Given the description of an element on the screen output the (x, y) to click on. 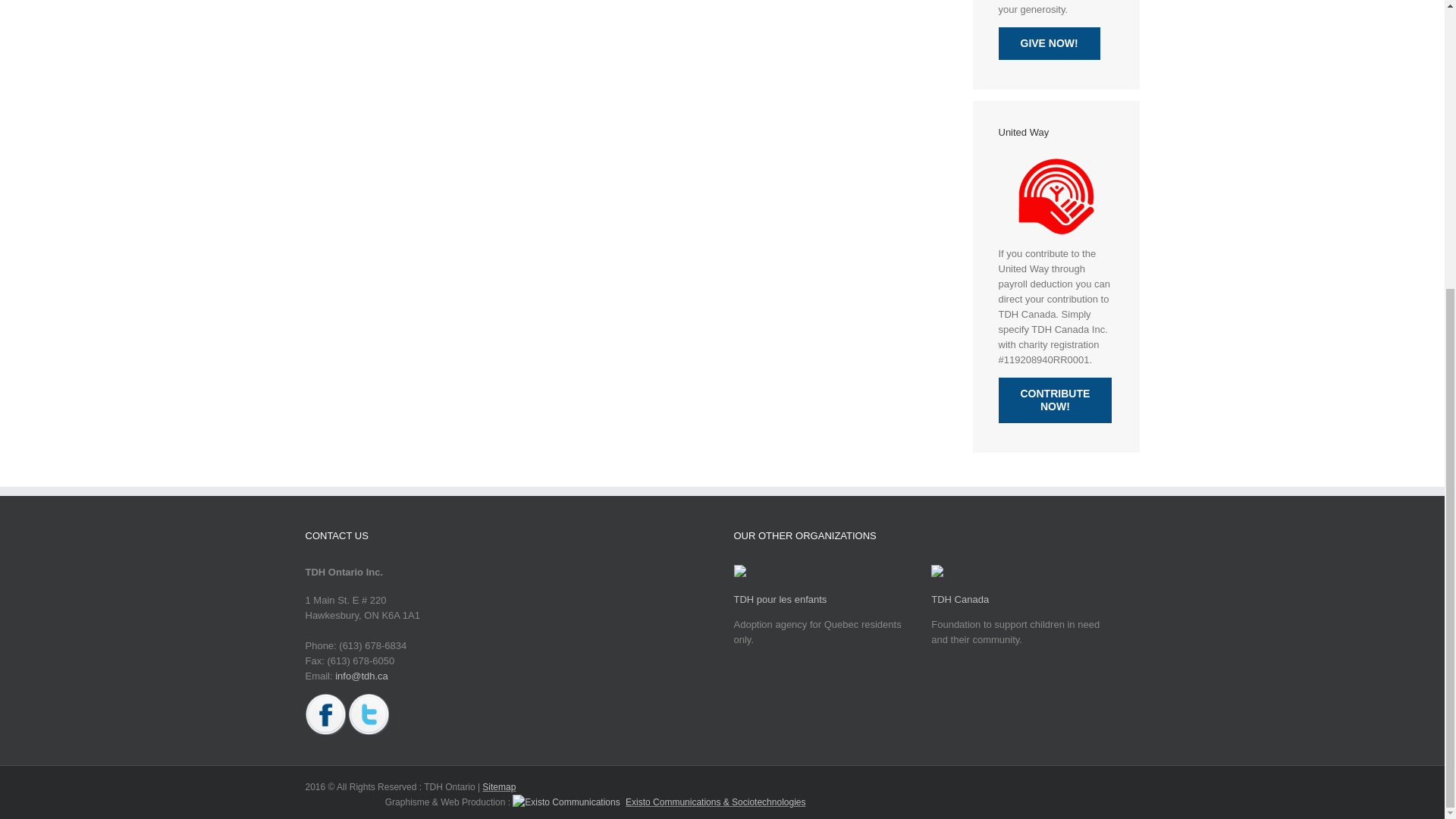
Sitemap (498, 787)
CONTRIBUTE NOW! (1054, 400)
GIVE NOW! (1048, 43)
TDH Canada (959, 599)
TDH pour les enfants (780, 599)
